Given the description of an element on the screen output the (x, y) to click on. 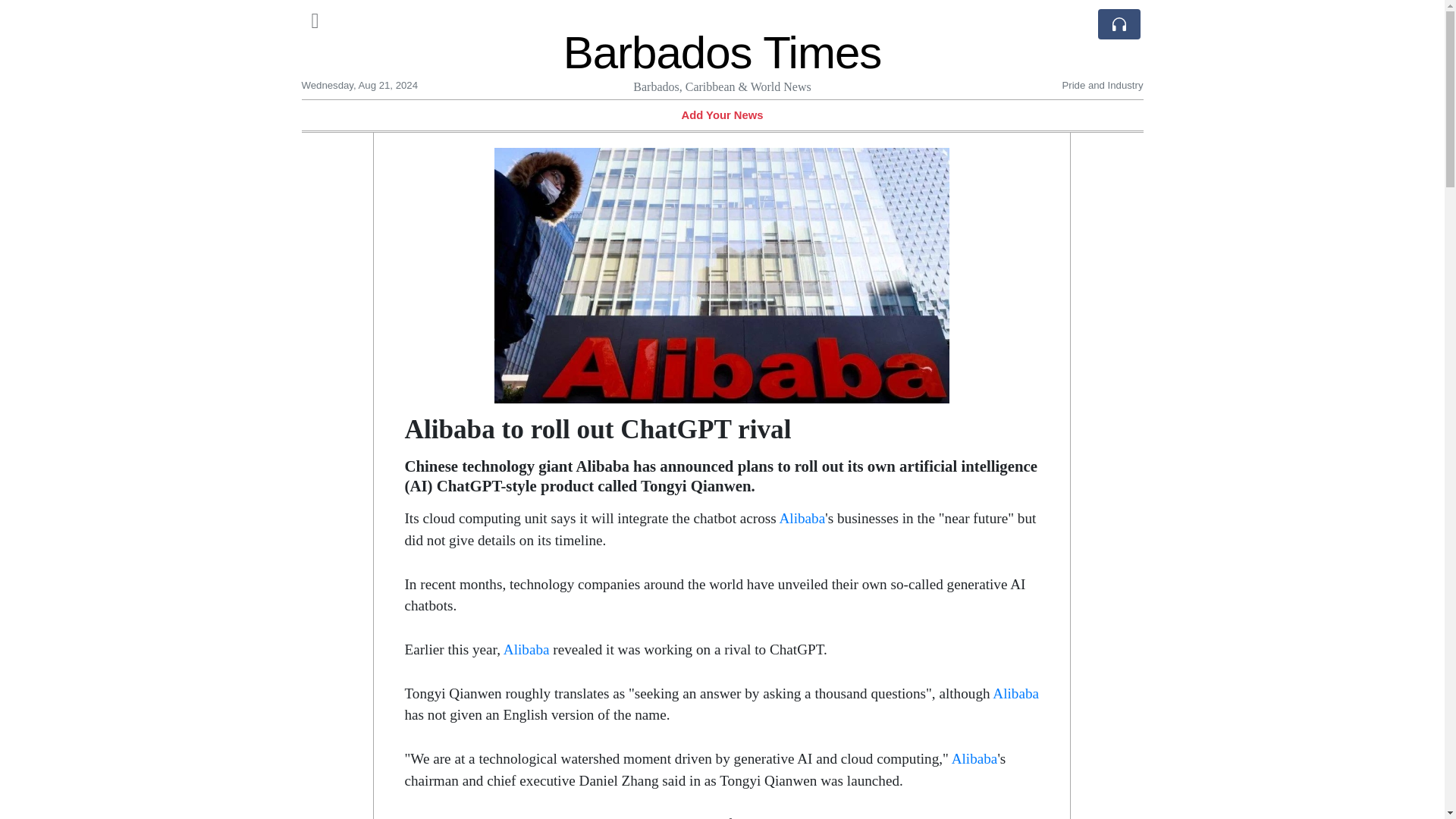
Alibaba (526, 649)
Alibaba (974, 758)
Add Your News (721, 114)
Alibaba (1015, 693)
Alibaba (801, 518)
Barbados Times (722, 52)
